Given the description of an element on the screen output the (x, y) to click on. 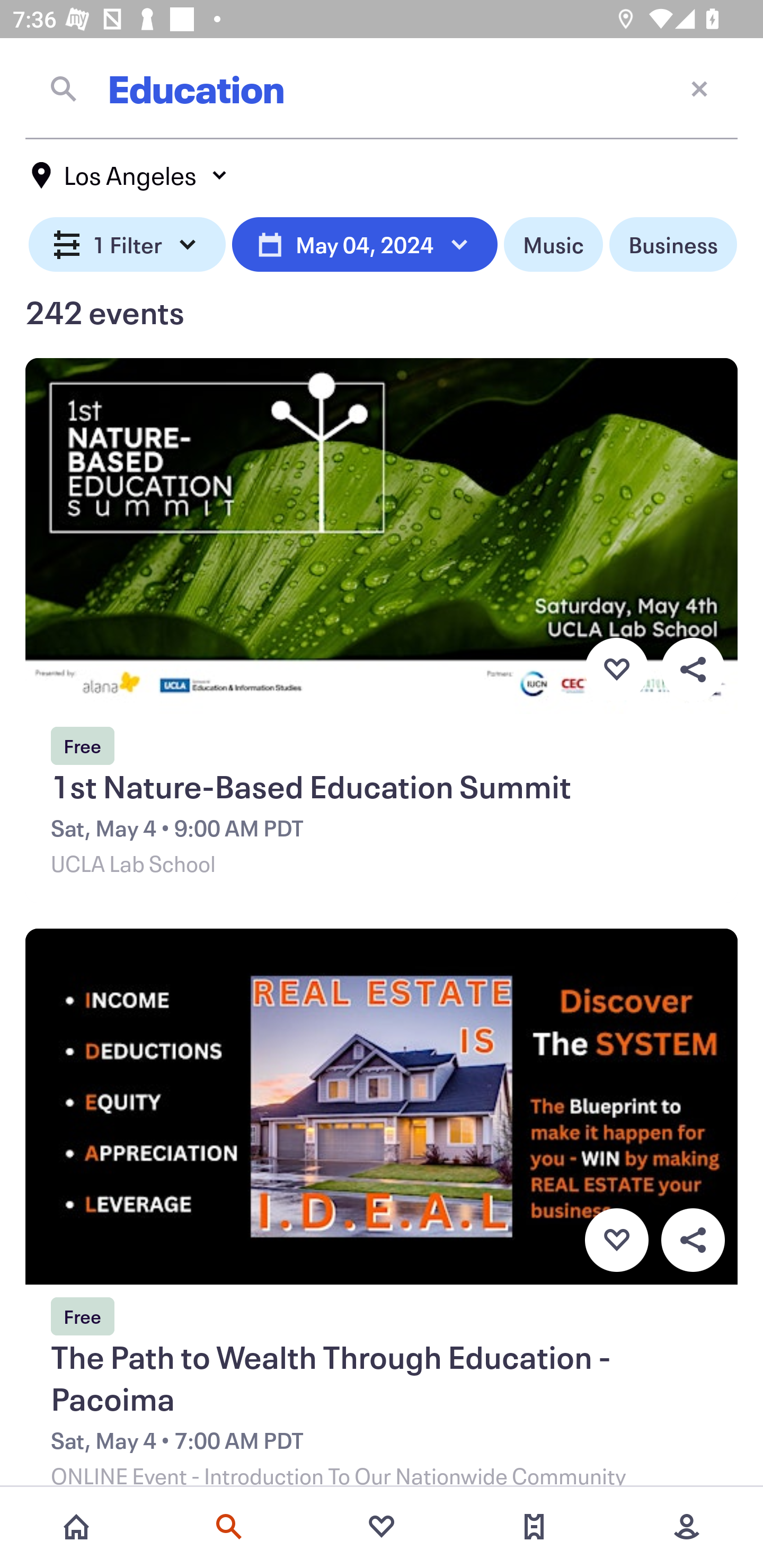
Education Close current screen (381, 88)
Close current screen (699, 88)
Los Angeles (130, 175)
1 Filter (126, 244)
May 04, 2024 (364, 244)
Music (552, 244)
Business (673, 244)
Favorite button (616, 669)
Overflow menu button (692, 669)
Favorite button (616, 1239)
Overflow menu button (692, 1239)
Home (76, 1526)
Search events (228, 1526)
Favorites (381, 1526)
Tickets (533, 1526)
More (686, 1526)
